Given the description of an element on the screen output the (x, y) to click on. 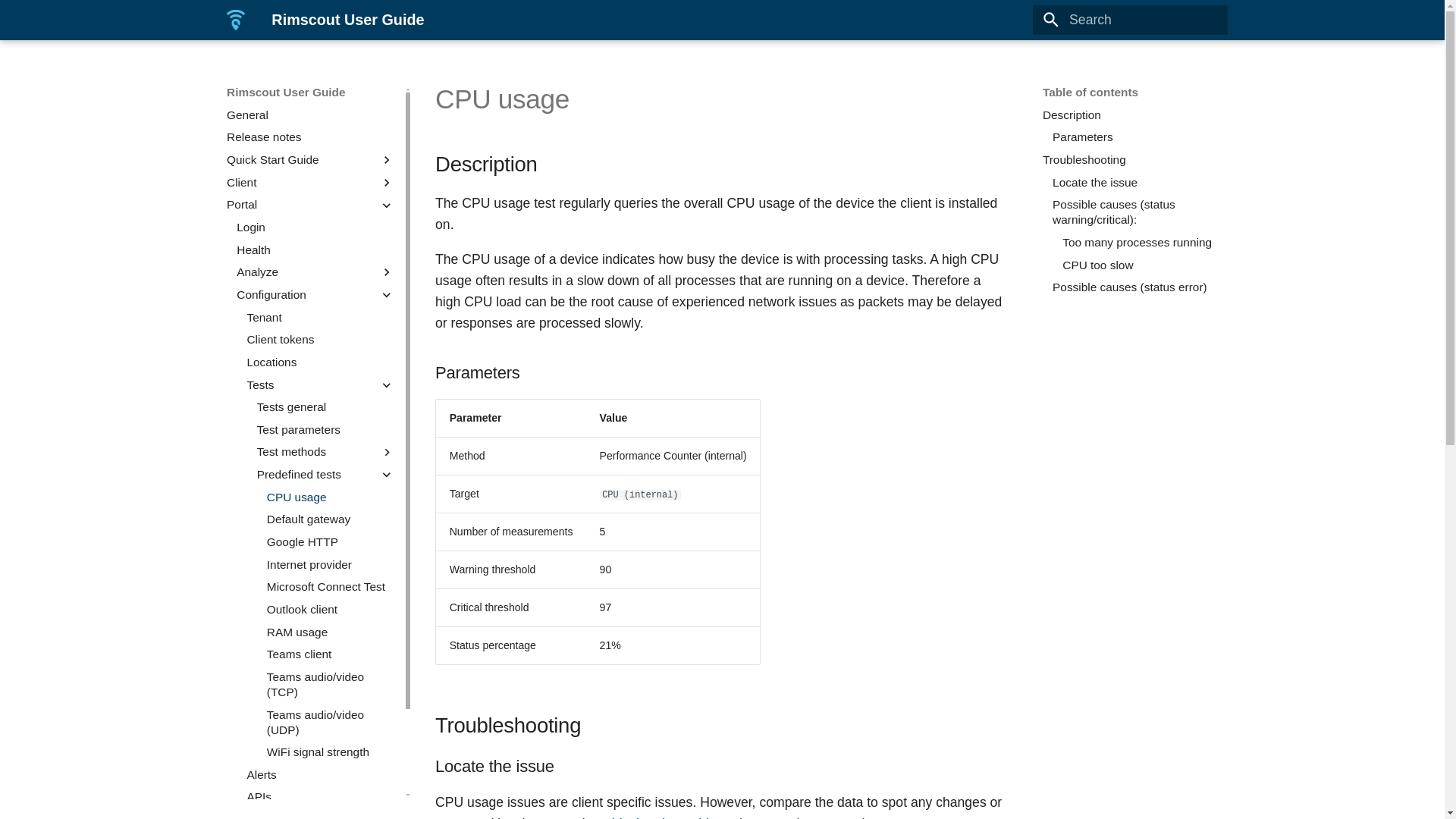
Client tokens (320, 339)
Health (314, 249)
Test parameters (325, 429)
Tests general (325, 406)
Release notes (310, 136)
Rimscout User Guide (235, 19)
Login (314, 227)
Tenant (320, 317)
General (310, 114)
Default gateway (330, 519)
